Given the description of an element on the screen output the (x, y) to click on. 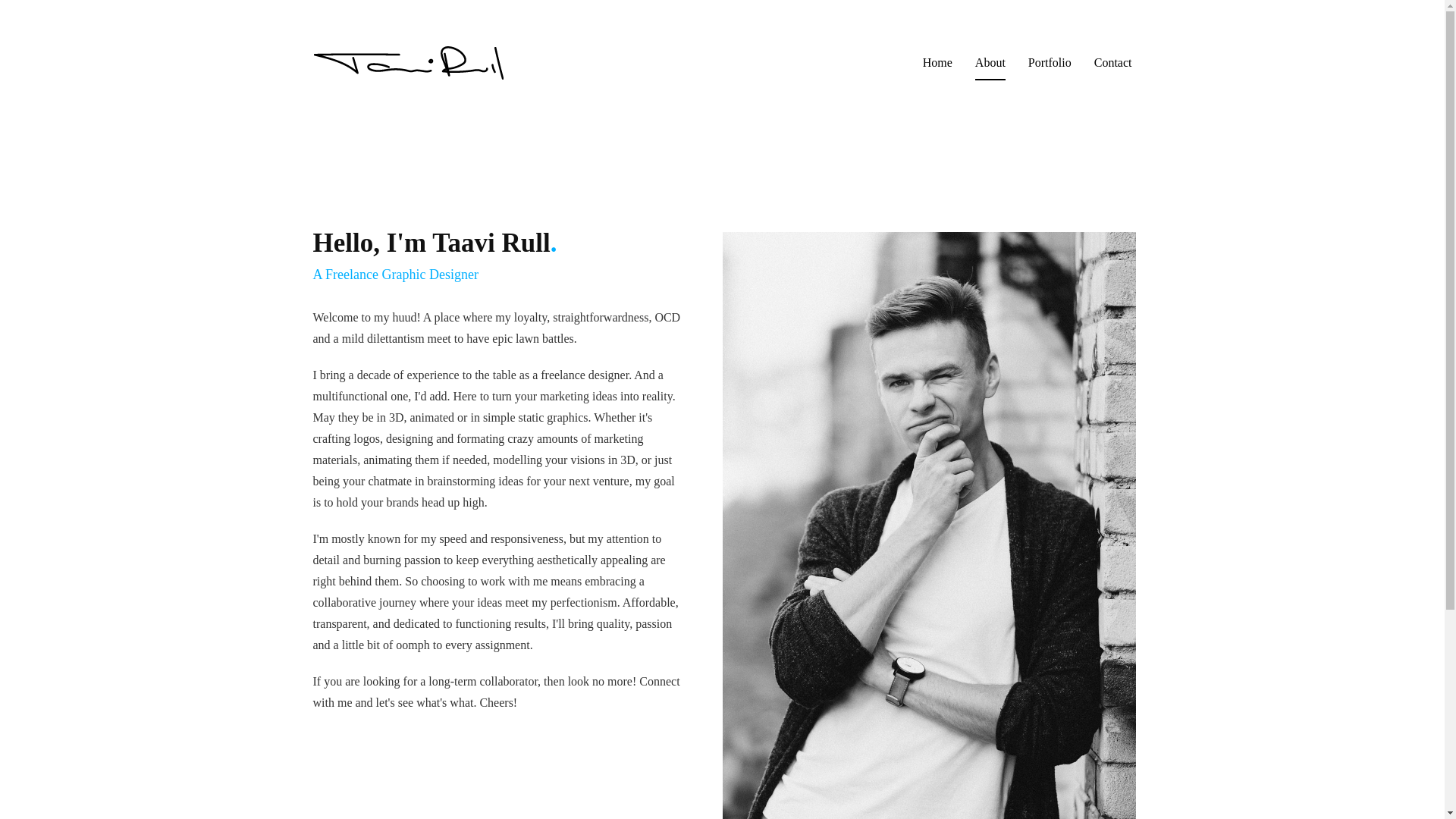
Contact (1113, 62)
Portfolio (1049, 62)
